Given the description of an element on the screen output the (x, y) to click on. 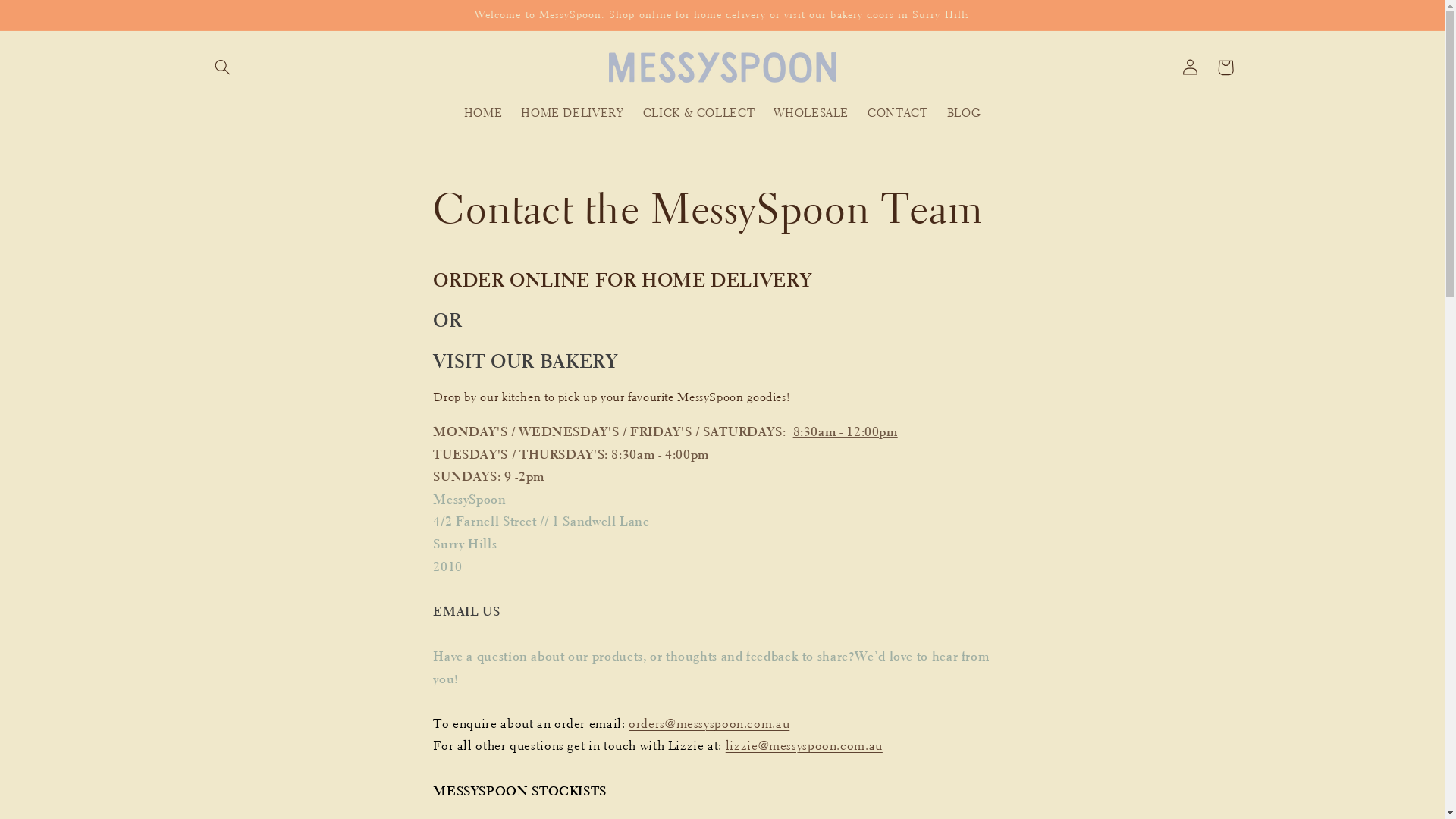
lizzie@messyspoon.com.au Element type: text (803, 745)
CLICK & COLLECT Element type: text (698, 113)
orders@messyspoon.com.au Element type: text (708, 723)
WHOLESALE Element type: text (811, 113)
BLOG Element type: text (963, 113)
HOME Element type: text (482, 113)
Log in Element type: text (1190, 67)
CONTACT Element type: text (898, 113)
HOME DELIVERY Element type: text (572, 113)
Cart Element type: text (1225, 67)
